Given the description of an element on the screen output the (x, y) to click on. 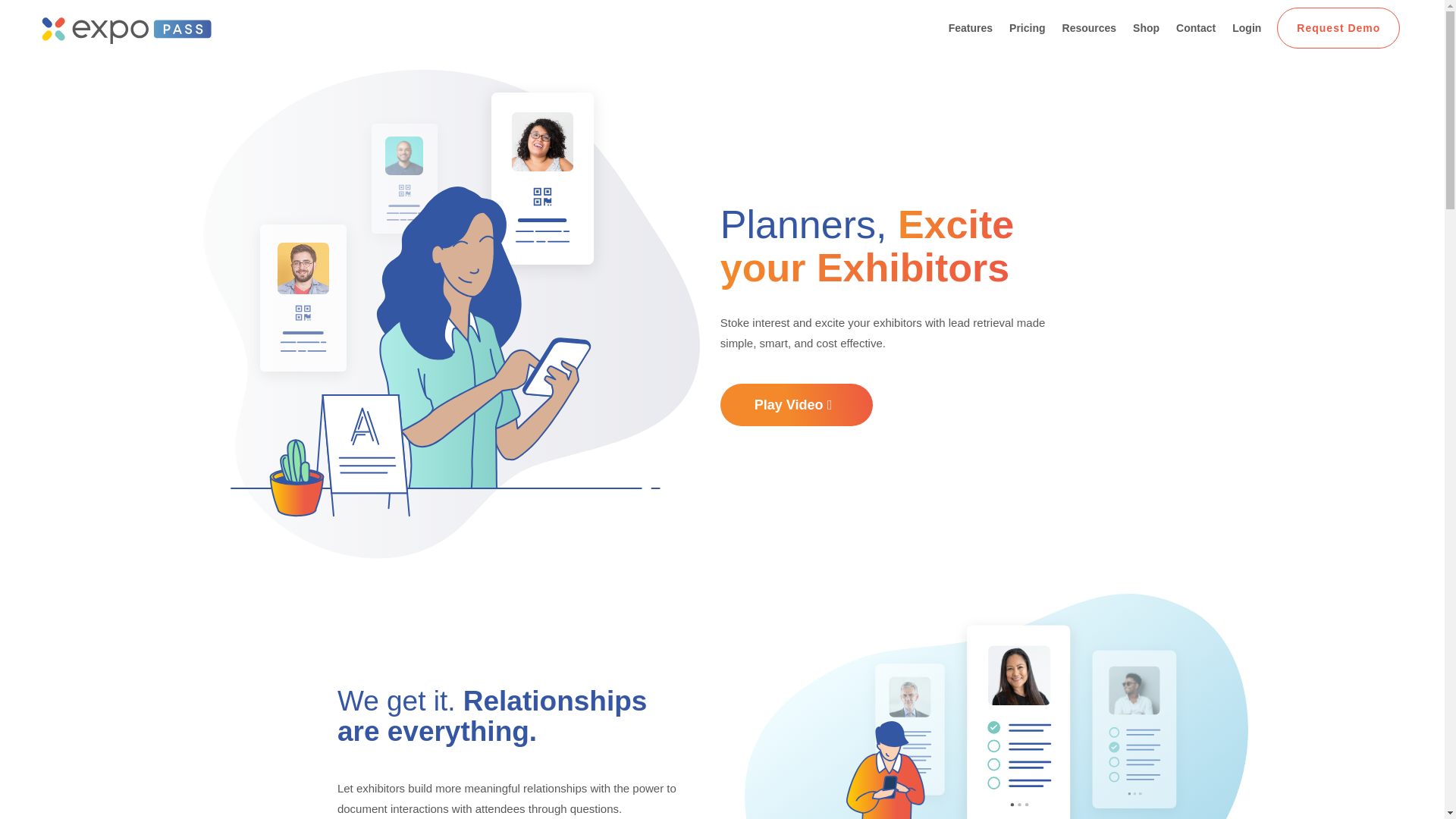
Request Demo (1337, 27)
Features (970, 27)
Contact (1195, 27)
Resources (1089, 27)
Relationships (995, 706)
